Given the description of an element on the screen output the (x, y) to click on. 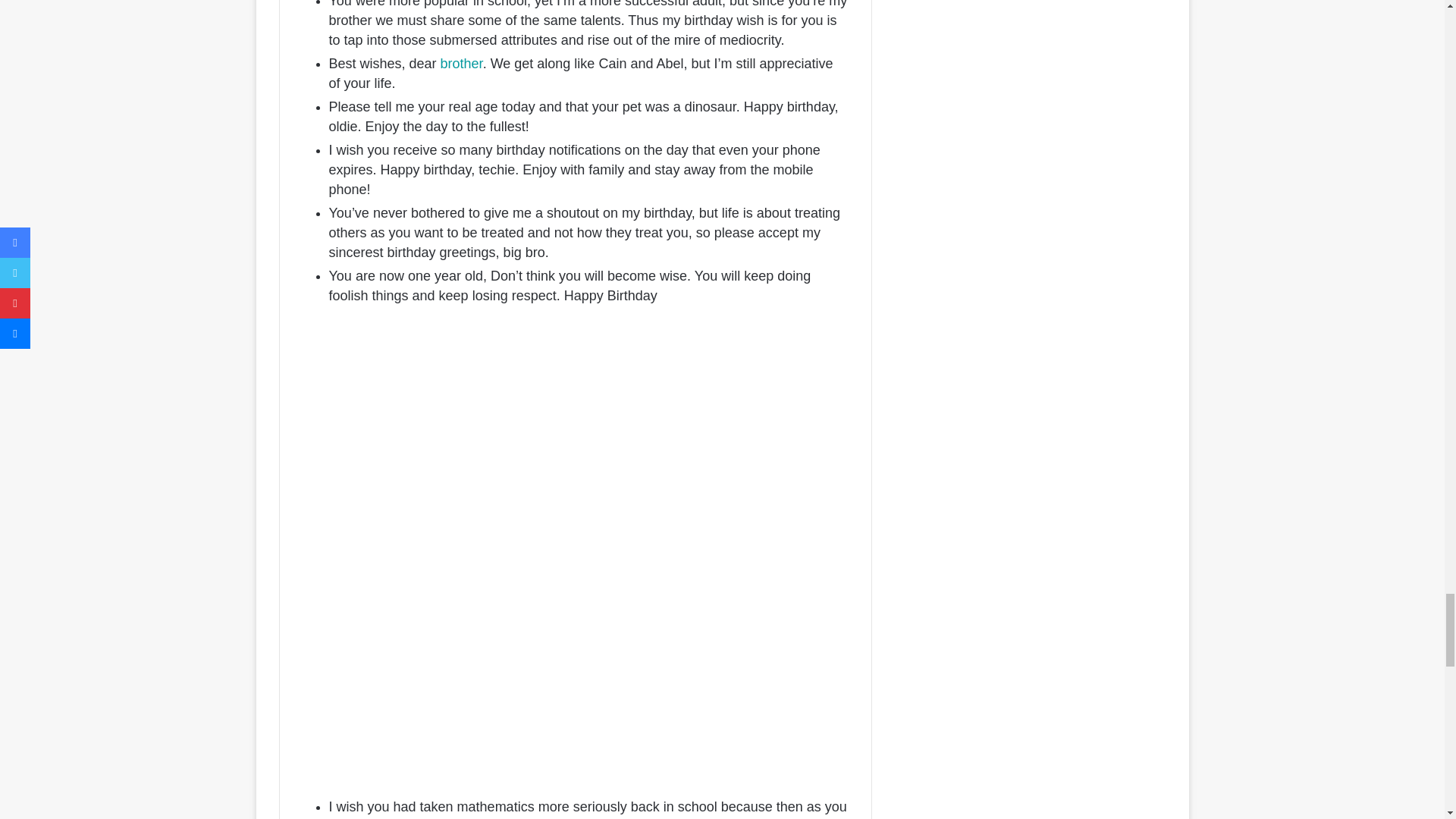
brother (462, 63)
